Given the description of an element on the screen output the (x, y) to click on. 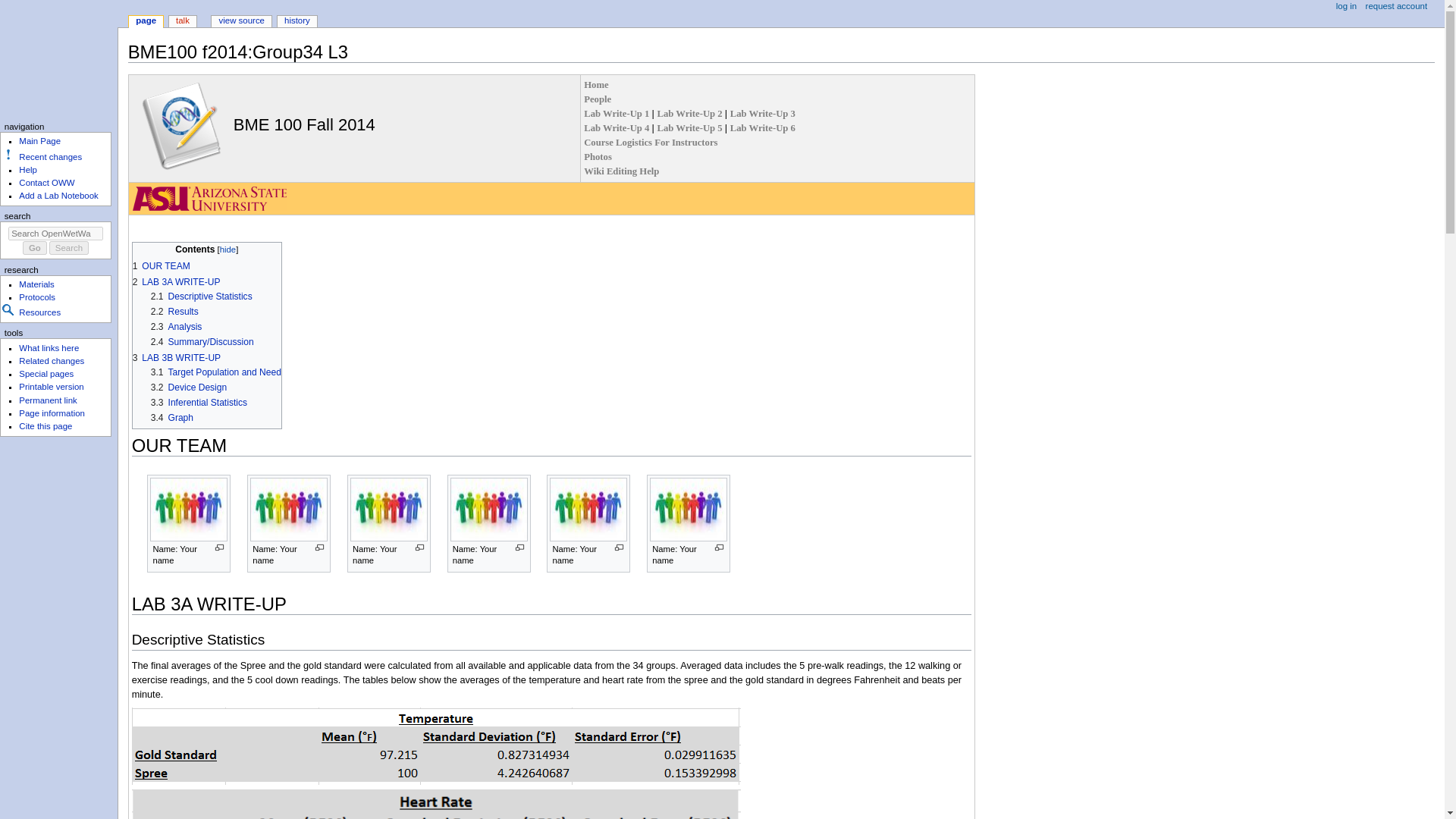
BME100 f2014:Projects3 (762, 113)
Search (68, 247)
3.3 Inferential Statistics (199, 402)
Lab Write-Up 5 (689, 127)
Lab Write-Up 1 (616, 113)
Go (34, 247)
Course Logistics For Instructors (650, 142)
1 OUR TEAM (161, 266)
Home (595, 84)
3.1 Target Population and Need (216, 371)
